Given the description of an element on the screen output the (x, y) to click on. 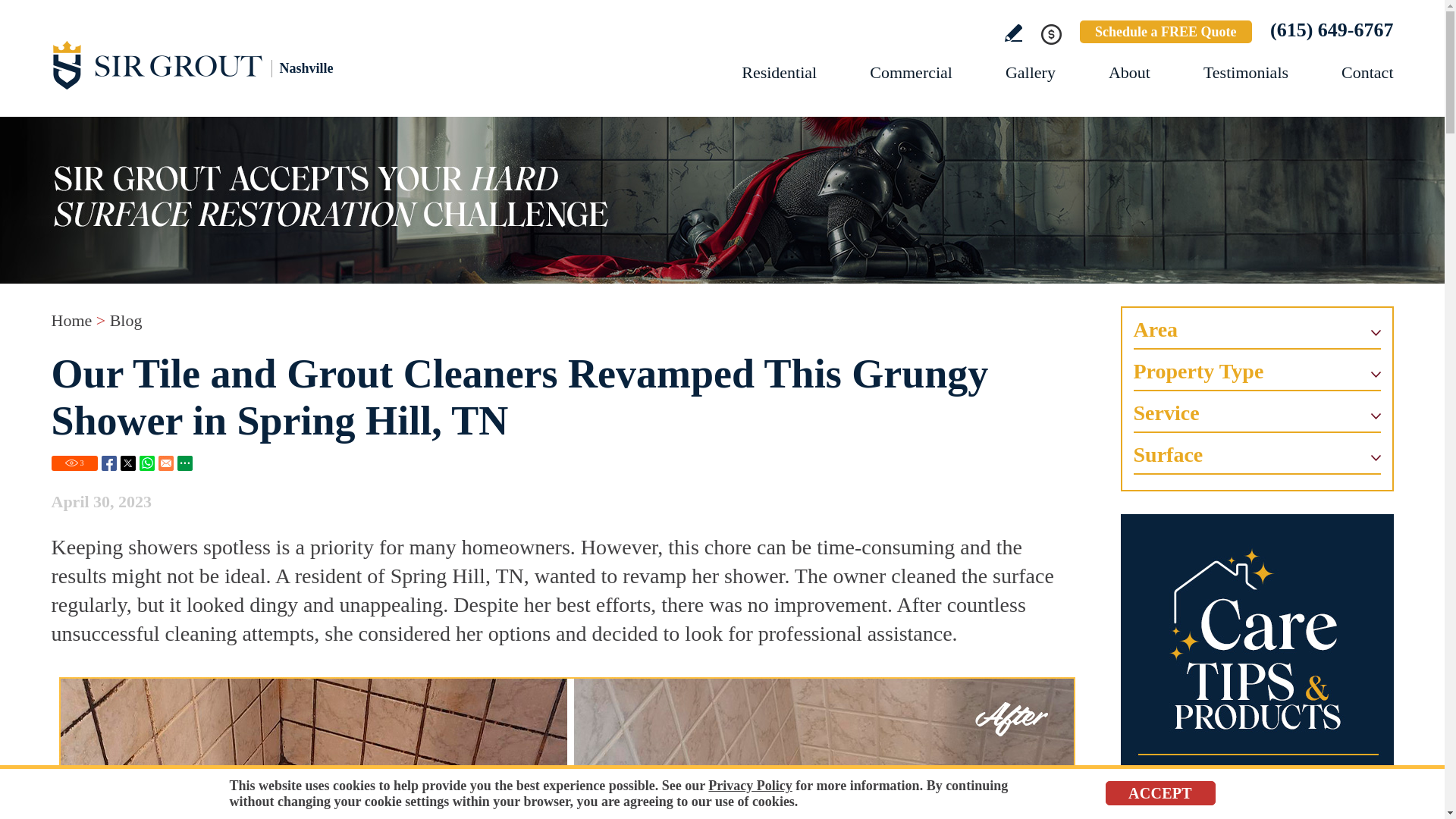
Write a Review (1013, 32)
Nashville (217, 64)
Gallery (1030, 72)
Residential Services (778, 72)
Sir Grout Nashville (217, 64)
Commercial (910, 72)
Call Sir Grout Nashville (1331, 29)
Schedule a FREE Quote (1166, 31)
Schedule a FREE Quote (1166, 31)
Write a Review (1013, 32)
About (1129, 72)
Residential (778, 72)
